Given the description of an element on the screen output the (x, y) to click on. 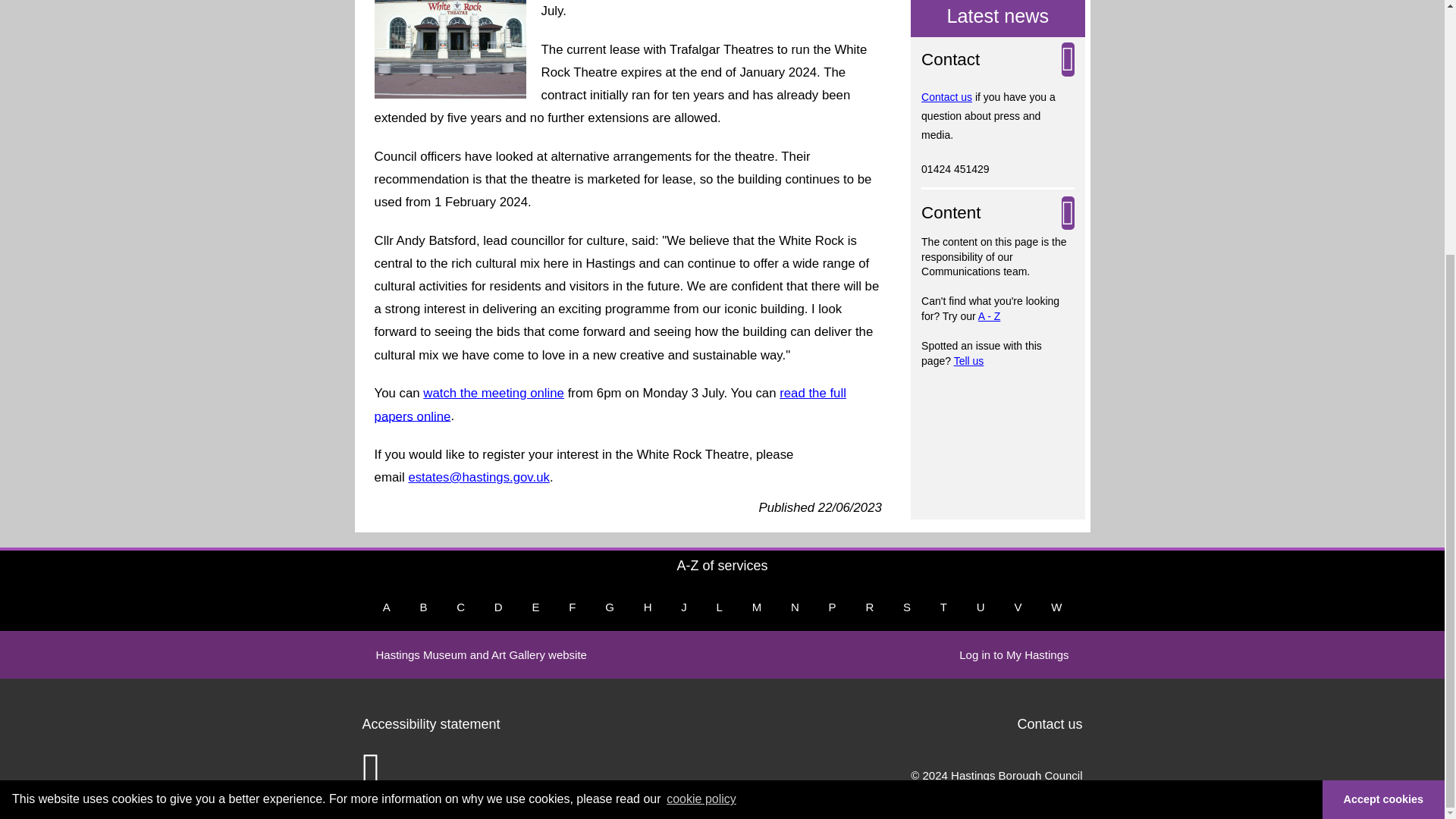
G (609, 607)
Internal link to My Hastings Contact Us form (946, 96)
read the full papers online (609, 404)
Tell us (968, 360)
M (757, 607)
White Rock Theatre frontage (449, 49)
Council meetings videos (493, 393)
ModGov link to the Cabinet agenda for 3 July 2023 (609, 404)
cookie policy (700, 438)
Contact us (946, 96)
watch the meeting online (493, 393)
